Given the description of an element on the screen output the (x, y) to click on. 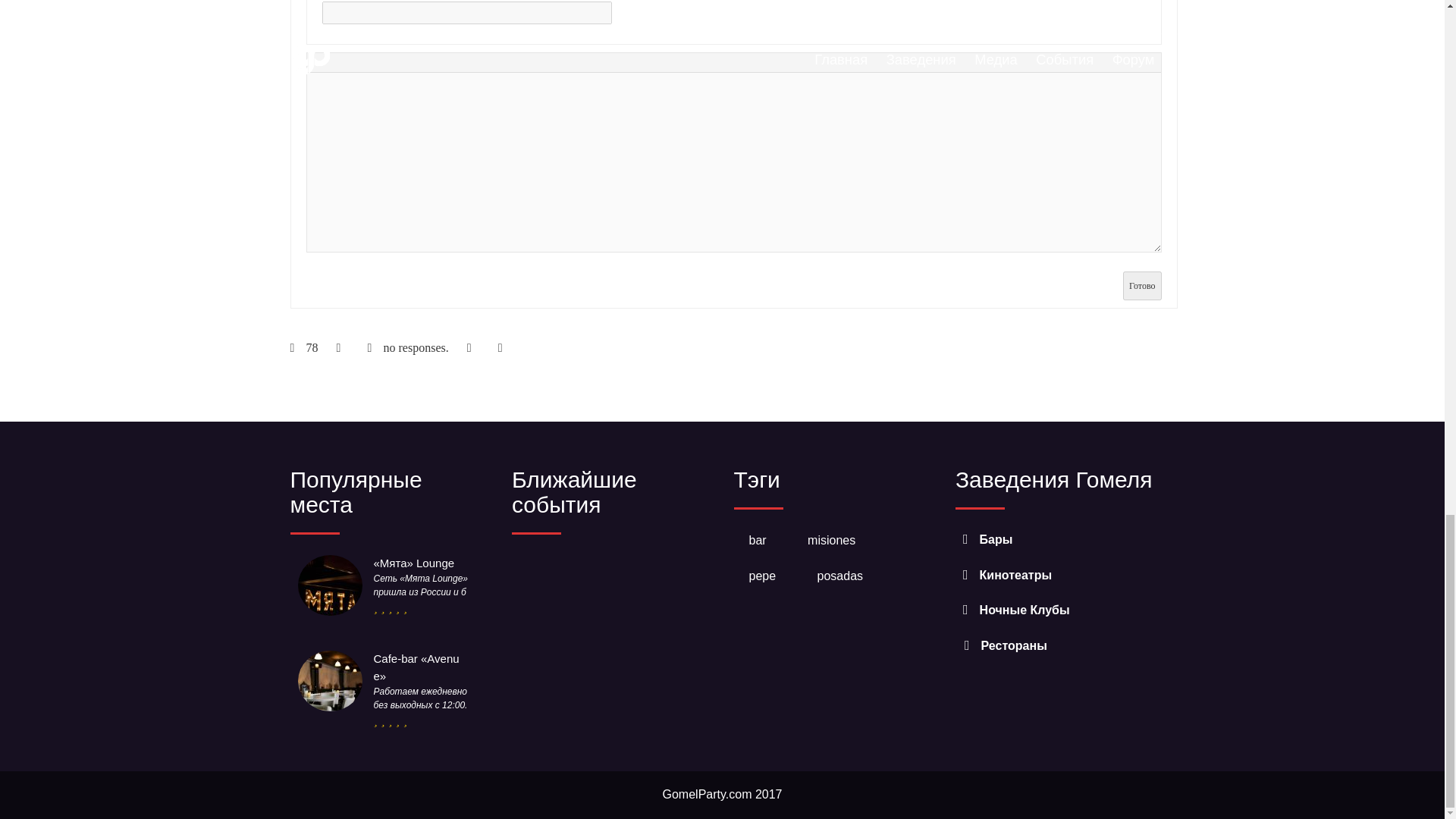
posadas (840, 575)
bar (757, 539)
misiones (831, 539)
pepe (762, 575)
